Given the description of an element on the screen output the (x, y) to click on. 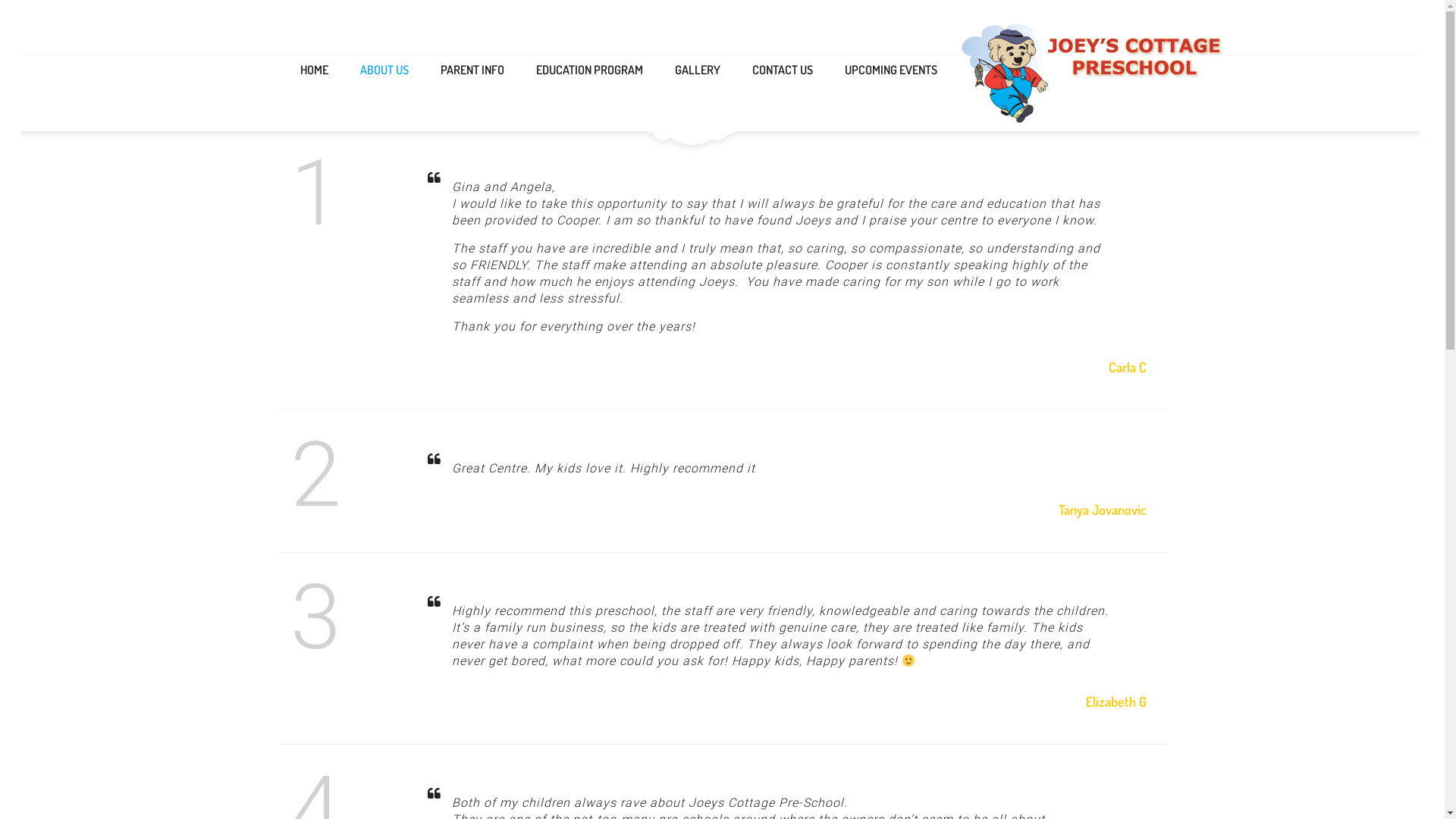
EDUCATION PROGRAM Element type: text (594, 69)
Carla C Element type: text (1127, 366)
GALLERY Element type: text (701, 69)
Tanya Jovanovic Element type: text (1102, 509)
ABOUT US Element type: text (389, 69)
CONTACT US Element type: text (786, 69)
PARENT INFO Element type: text (477, 69)
UPCOMING EVENTS Element type: text (895, 69)
HOME Element type: text (318, 69)
Elizabeth G Element type: text (1115, 701)
